Given the description of an element on the screen output the (x, y) to click on. 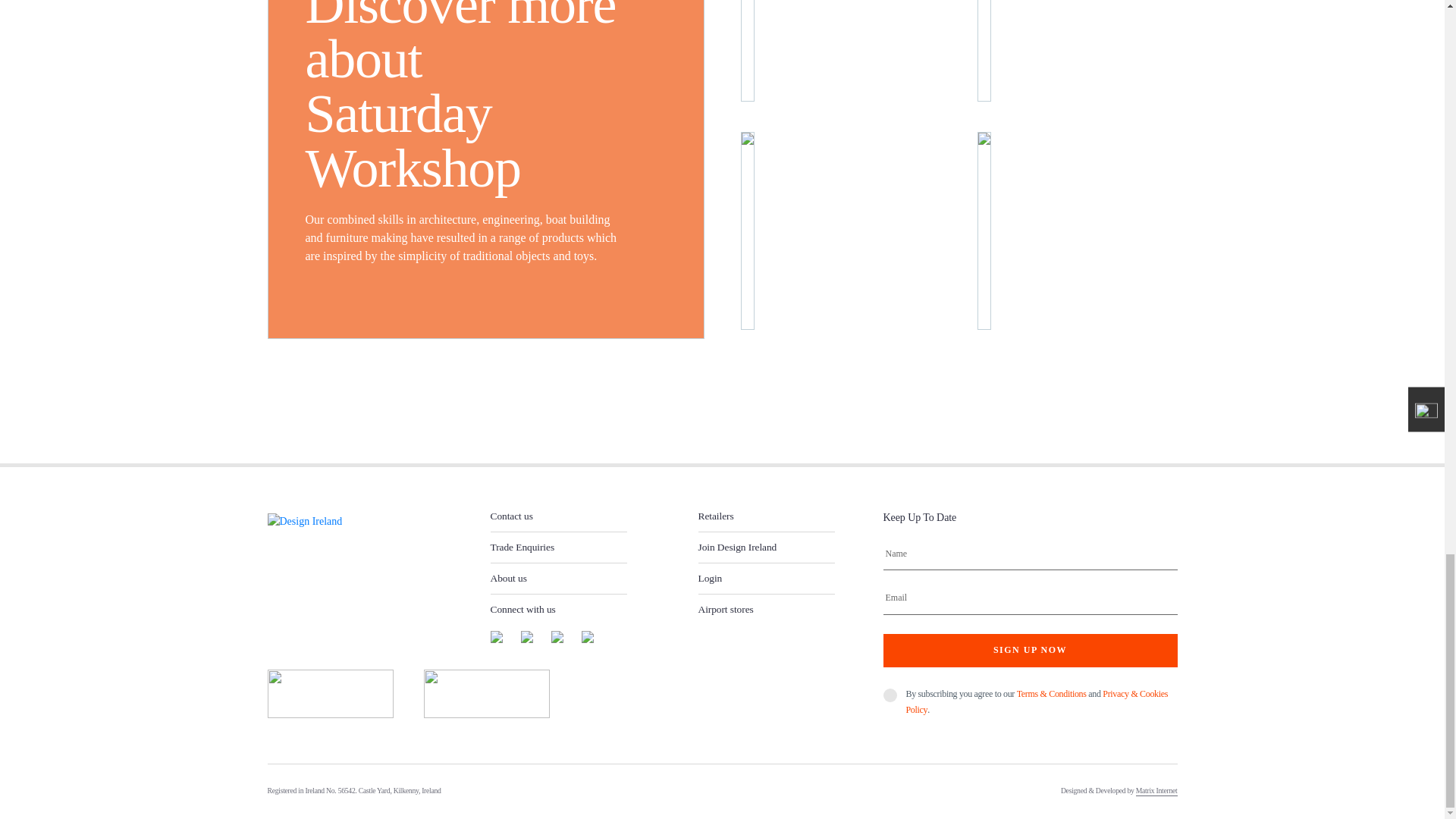
sign up now (1029, 650)
